Given the description of an element on the screen output the (x, y) to click on. 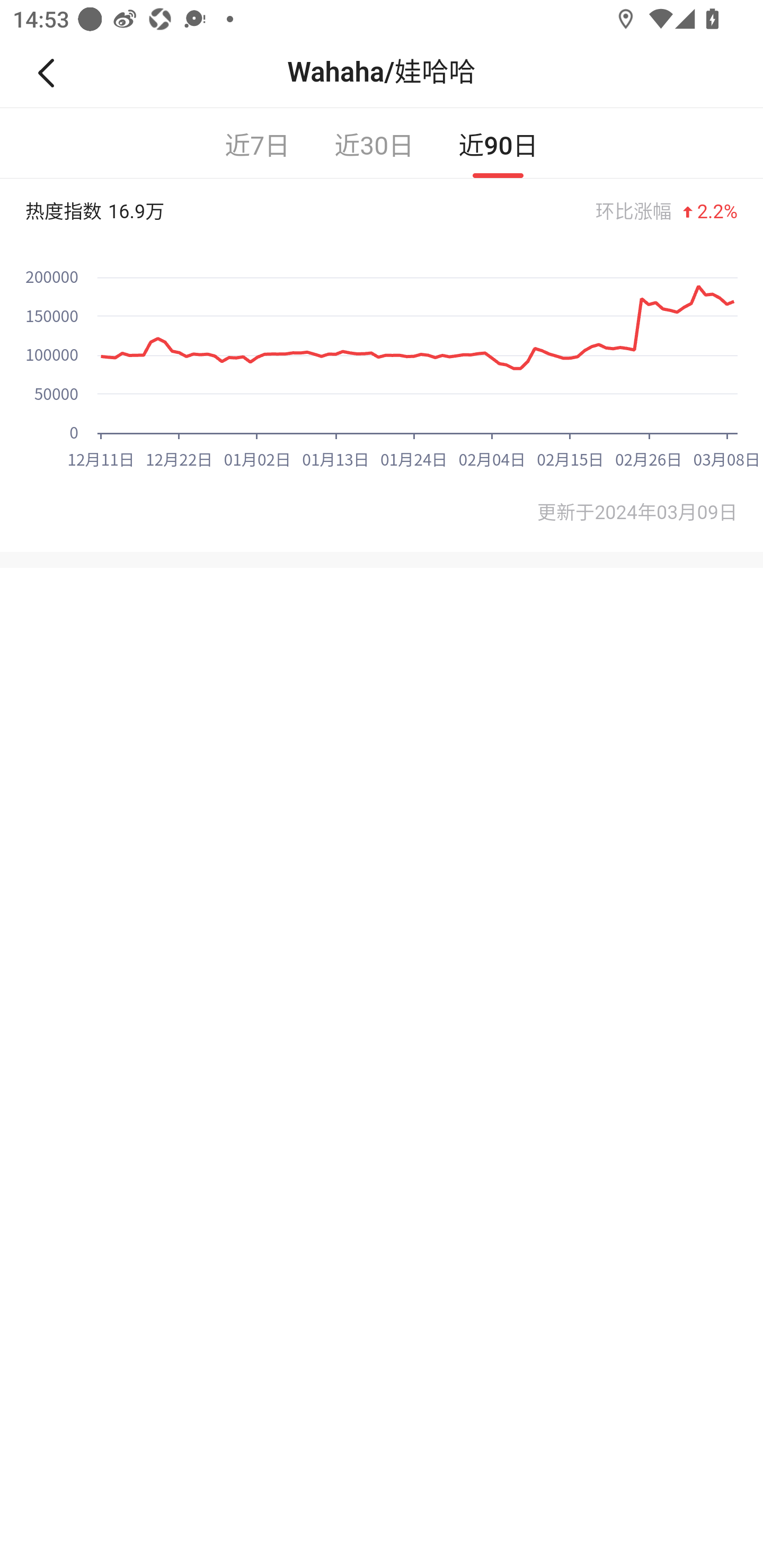
返回 (53, 72)
近7日 (257, 143)
近30日 (374, 143)
近90日 (497, 143)
